Given the description of an element on the screen output the (x, y) to click on. 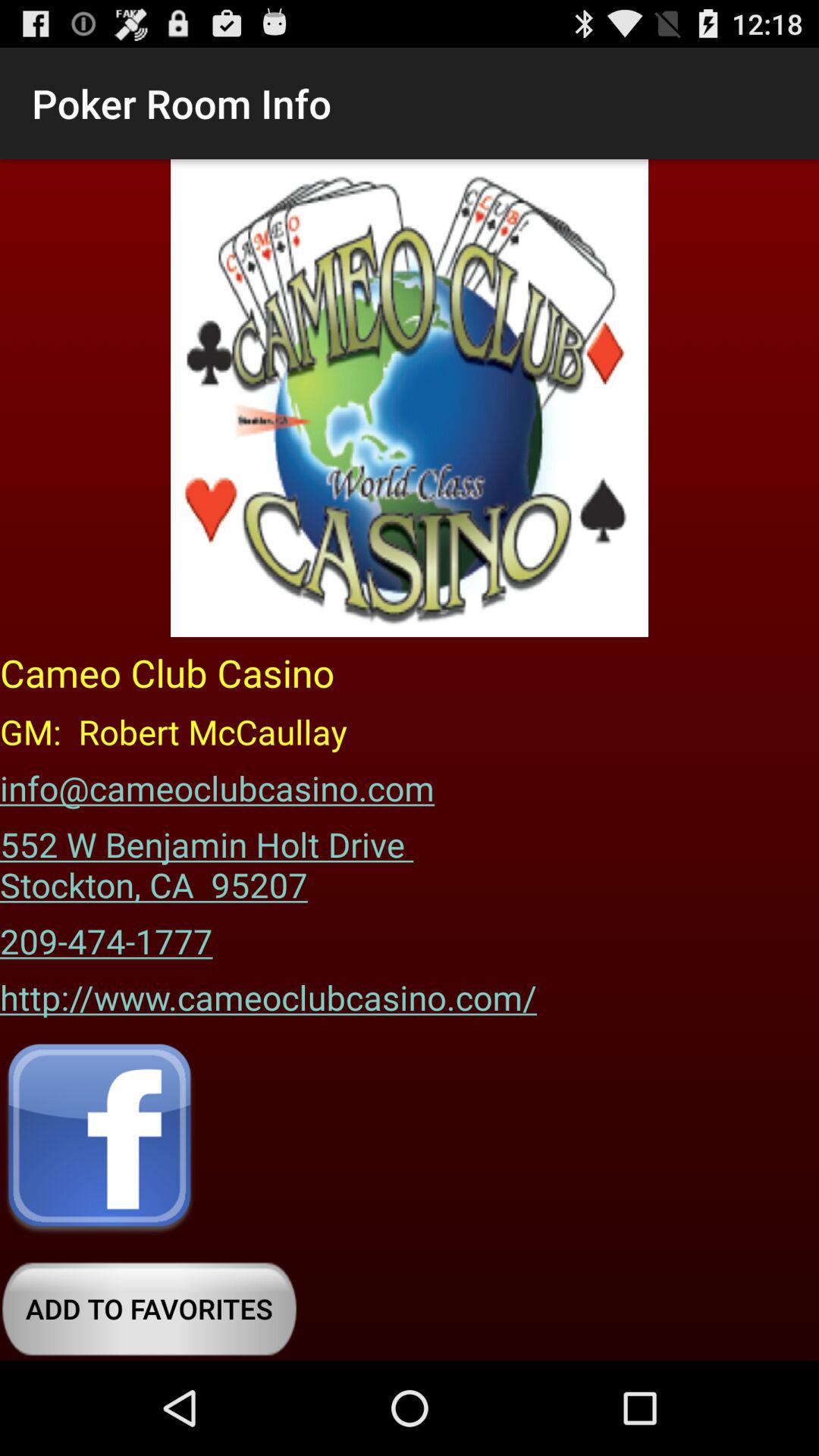
press 552 w benjamin (212, 859)
